Given the description of an element on the screen output the (x, y) to click on. 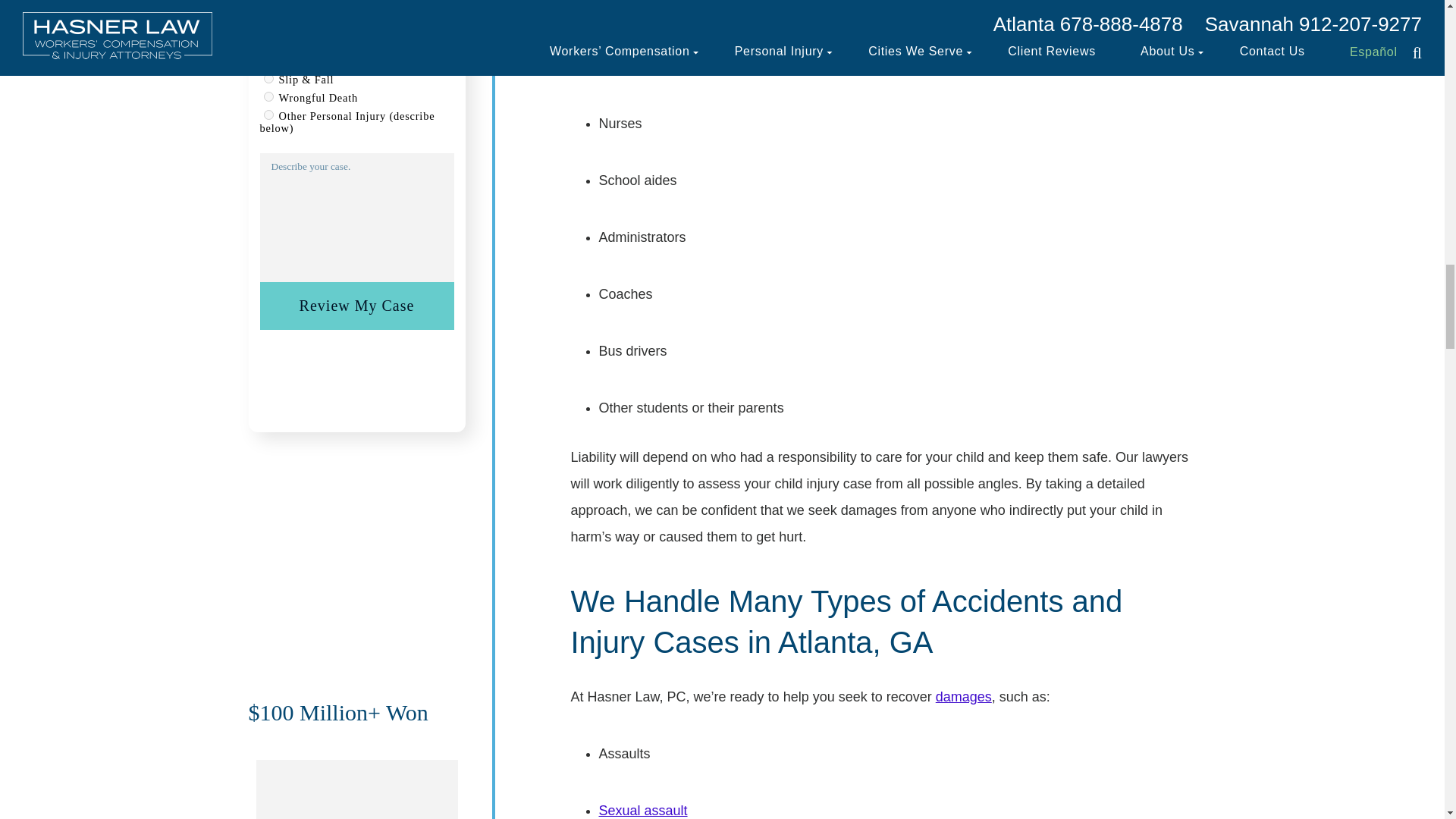
Truck Accident (268, 60)
Wrongful Death (268, 96)
Car Accident (268, 41)
Review My Case (355, 305)
